Given the description of an element on the screen output the (x, y) to click on. 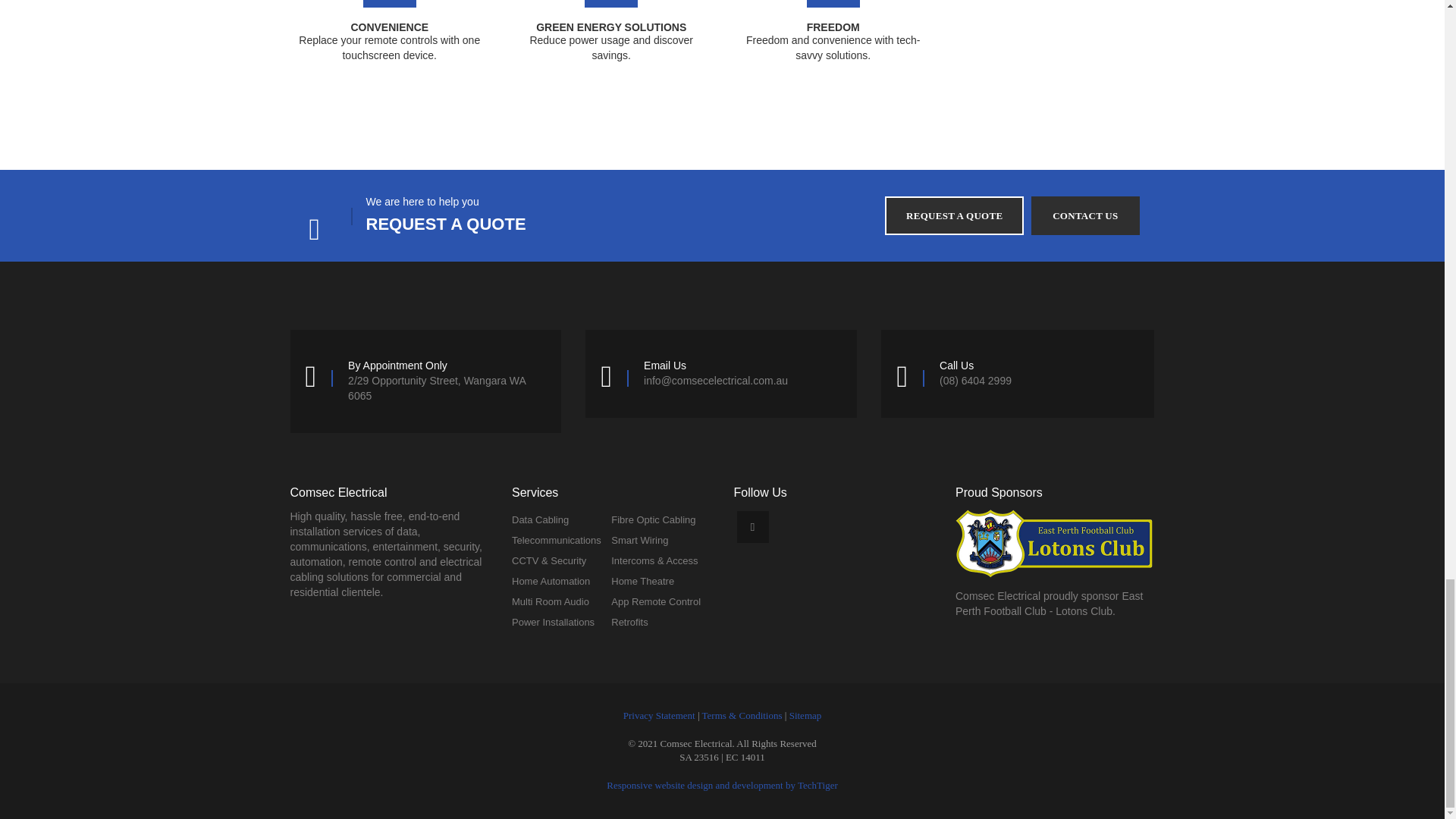
Telecommunications (556, 540)
Fibre Optic Cabling (653, 519)
Data Cabling (540, 519)
CONTACT US (1084, 215)
REQUEST A QUOTE (954, 215)
